Given the description of an element on the screen output the (x, y) to click on. 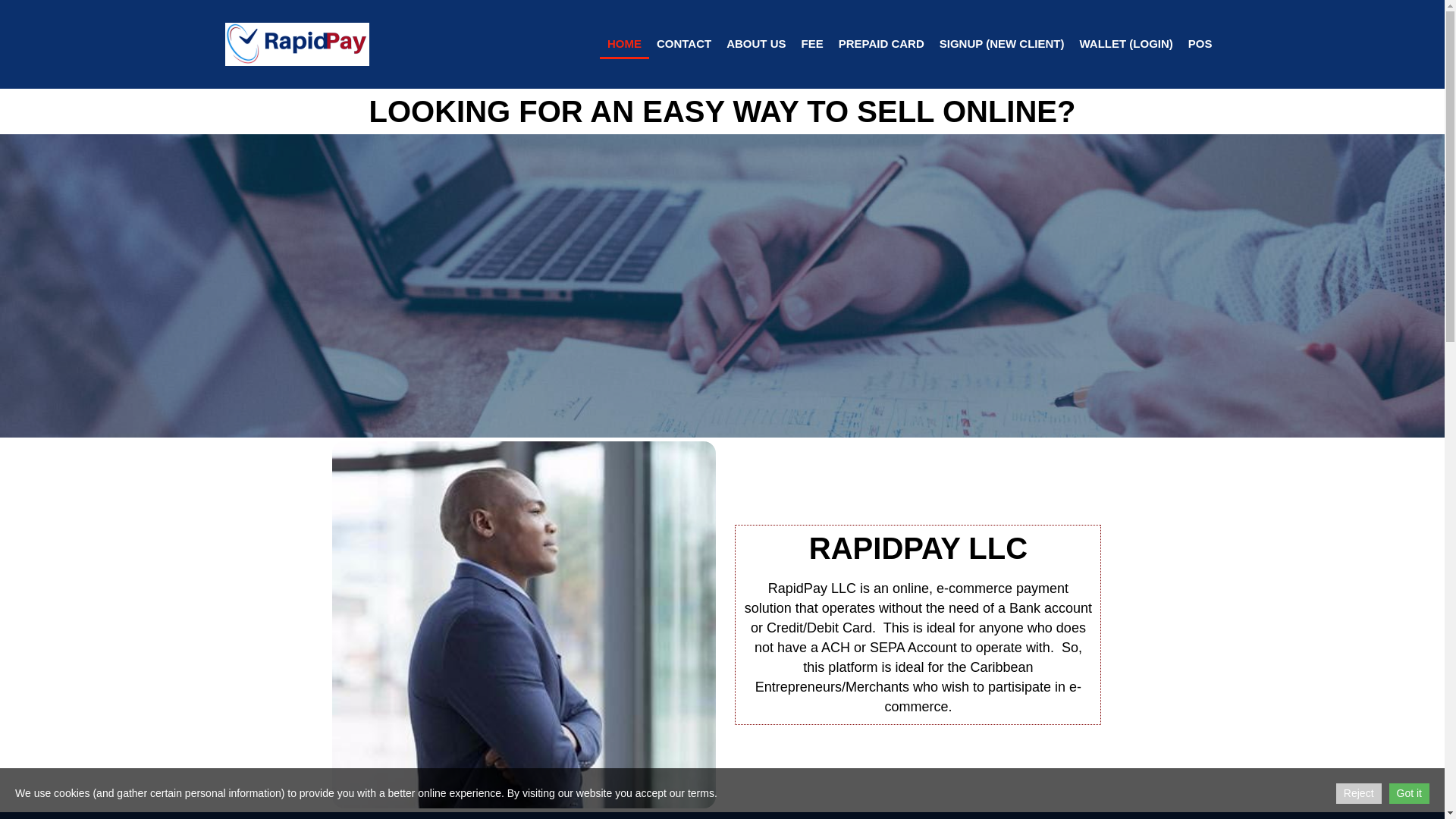
PREPAID CARD (881, 43)
Got it (1409, 792)
FEE (811, 43)
HOME (624, 44)
ABOUT US (756, 43)
CONTACT (684, 43)
Reject (1358, 792)
POS (1200, 43)
